Given the description of an element on the screen output the (x, y) to click on. 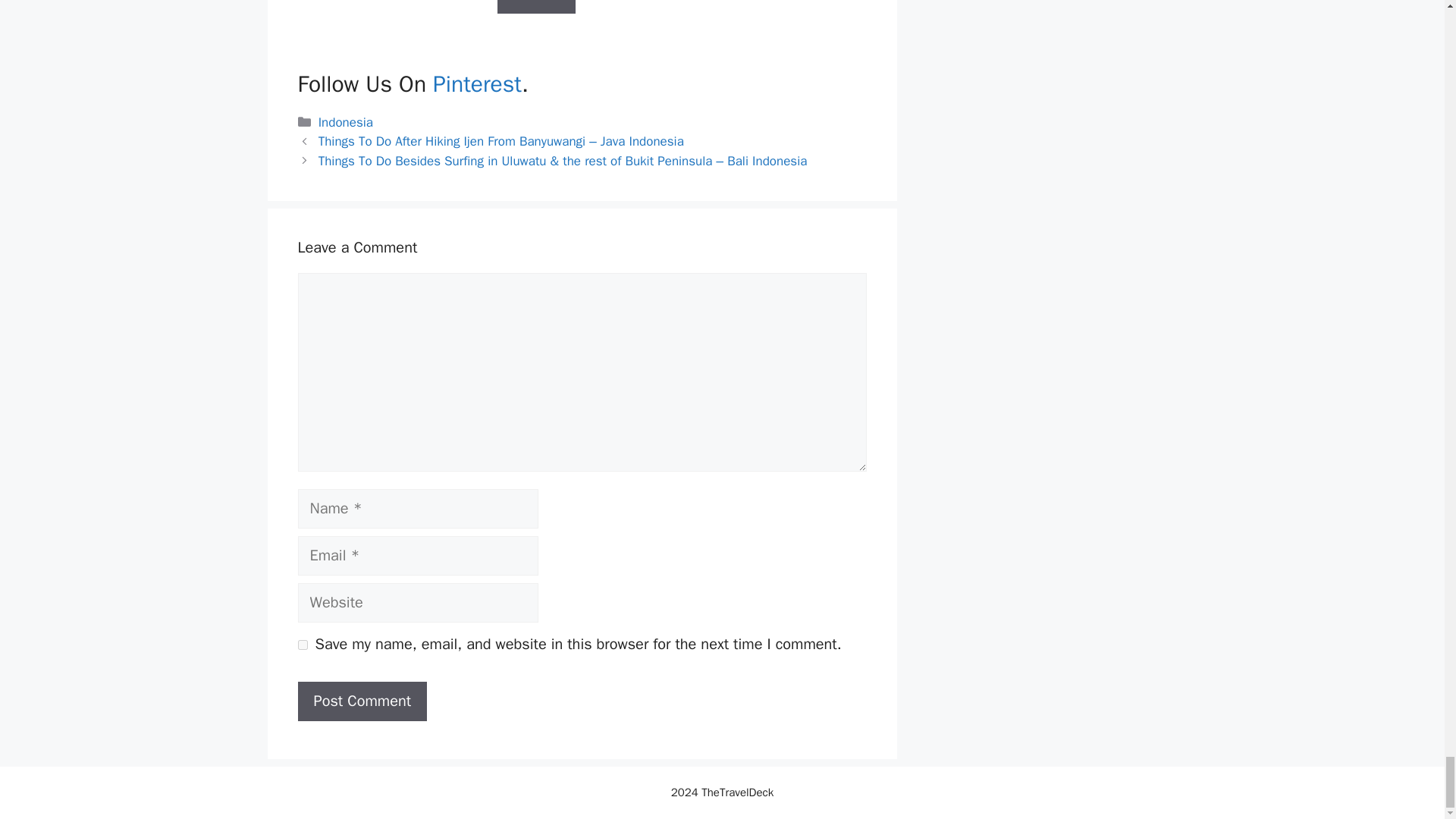
Submit (536, 6)
yes (302, 644)
Pinterest (476, 83)
Indonesia (345, 122)
Submit (536, 6)
Post Comment (361, 701)
Post Comment (361, 701)
